Given the description of an element on the screen output the (x, y) to click on. 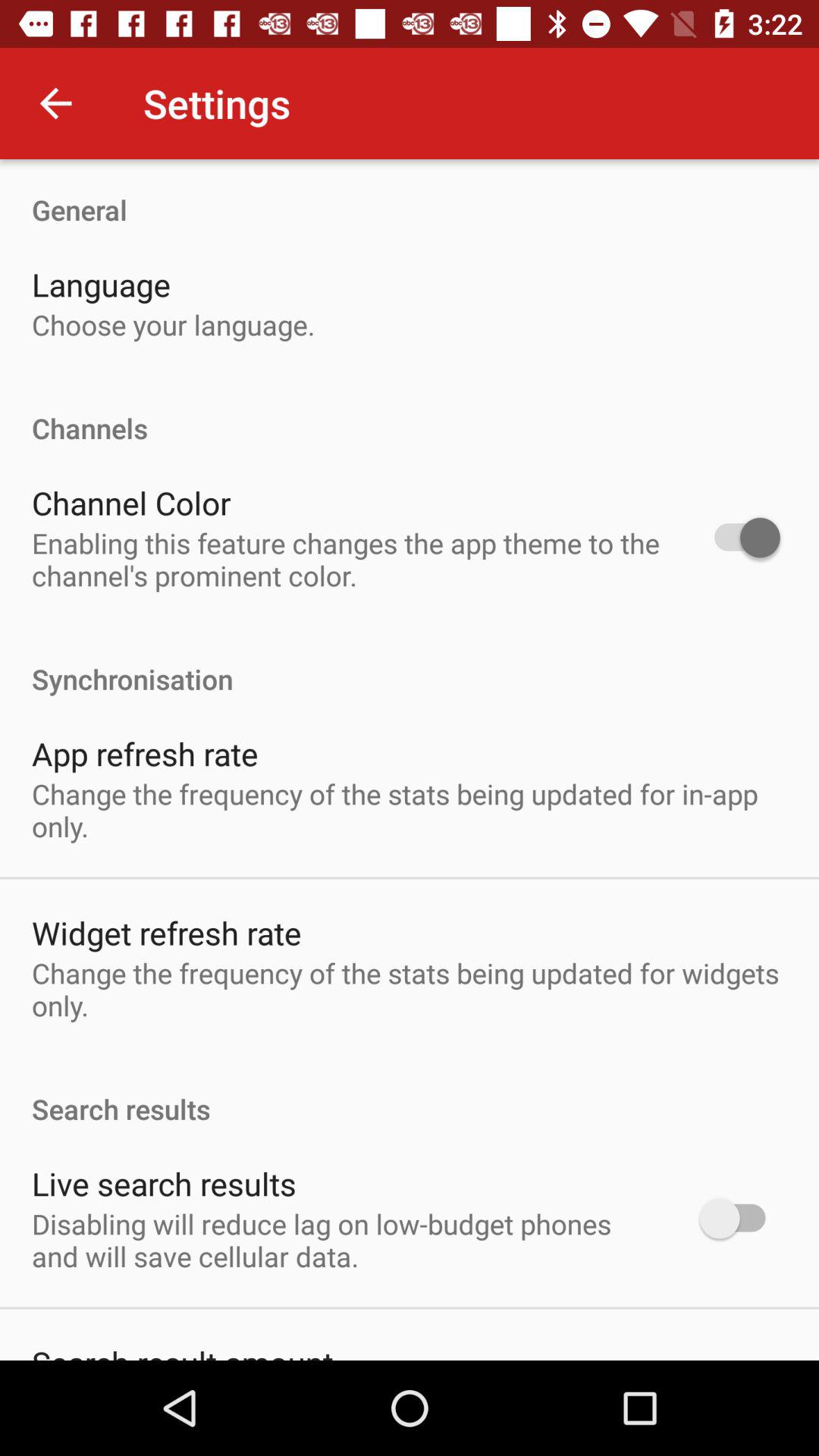
open the icon below the language item (173, 324)
